Given the description of an element on the screen output the (x, y) to click on. 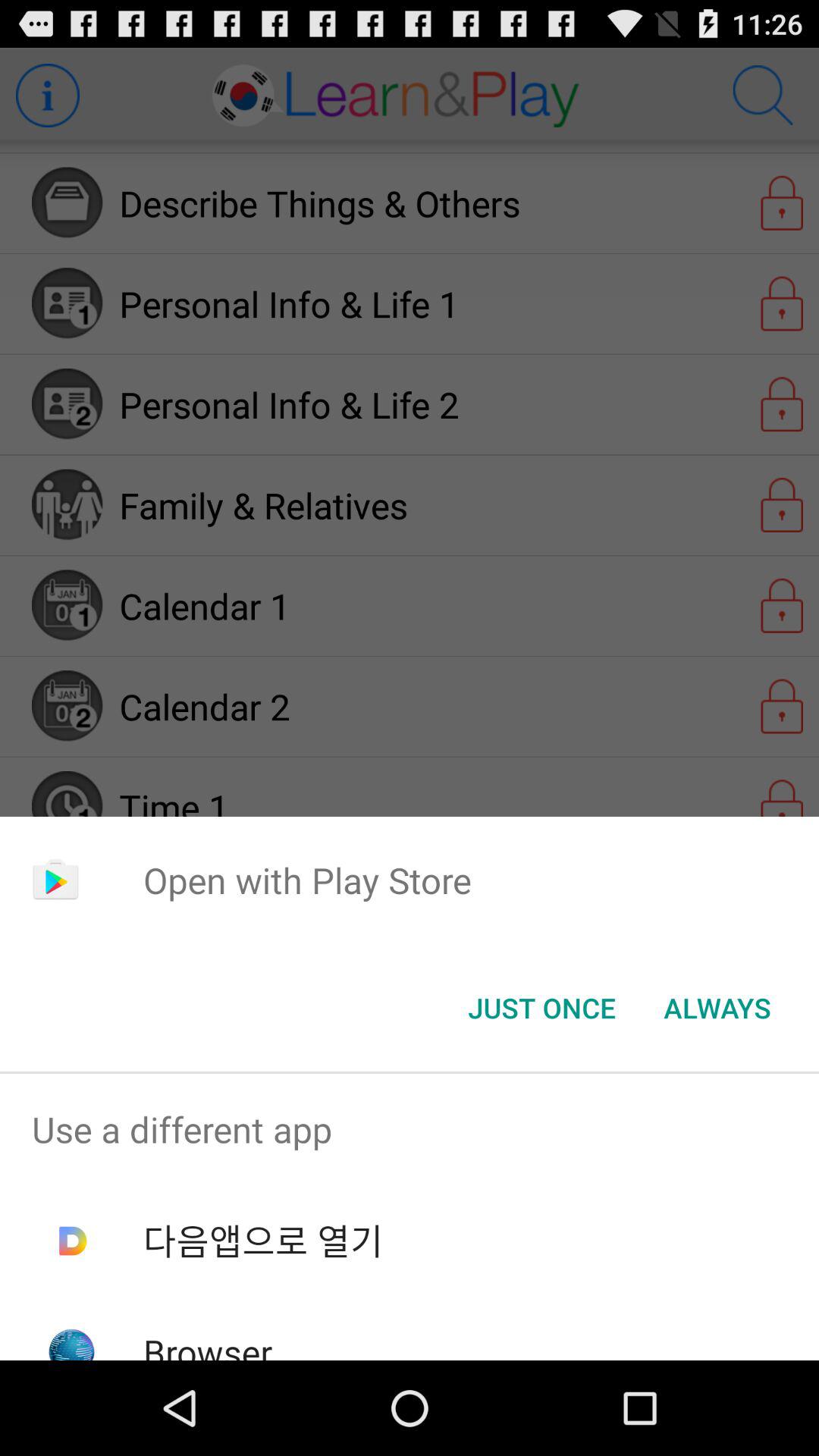
turn on use a different app (409, 1129)
